Given the description of an element on the screen output the (x, y) to click on. 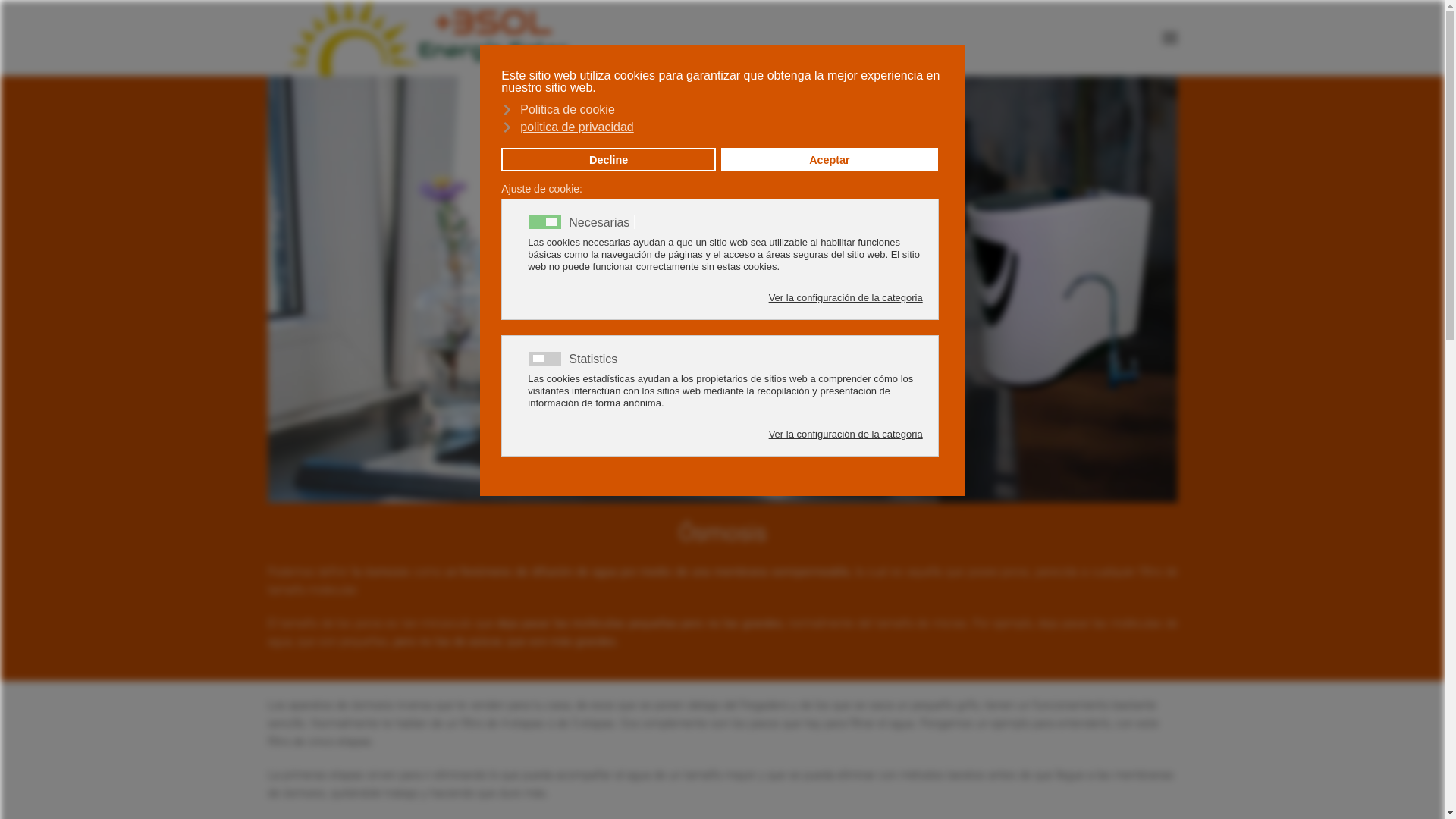
Decline Element type: text (608, 159)
Aceptar Element type: text (829, 159)
politica de privacidad Element type: text (720, 126)
Politica de cookie Element type: text (720, 109)
Necesarias Element type: text (601, 221)
Statistics Element type: text (594, 358)
